Given the description of an element on the screen output the (x, y) to click on. 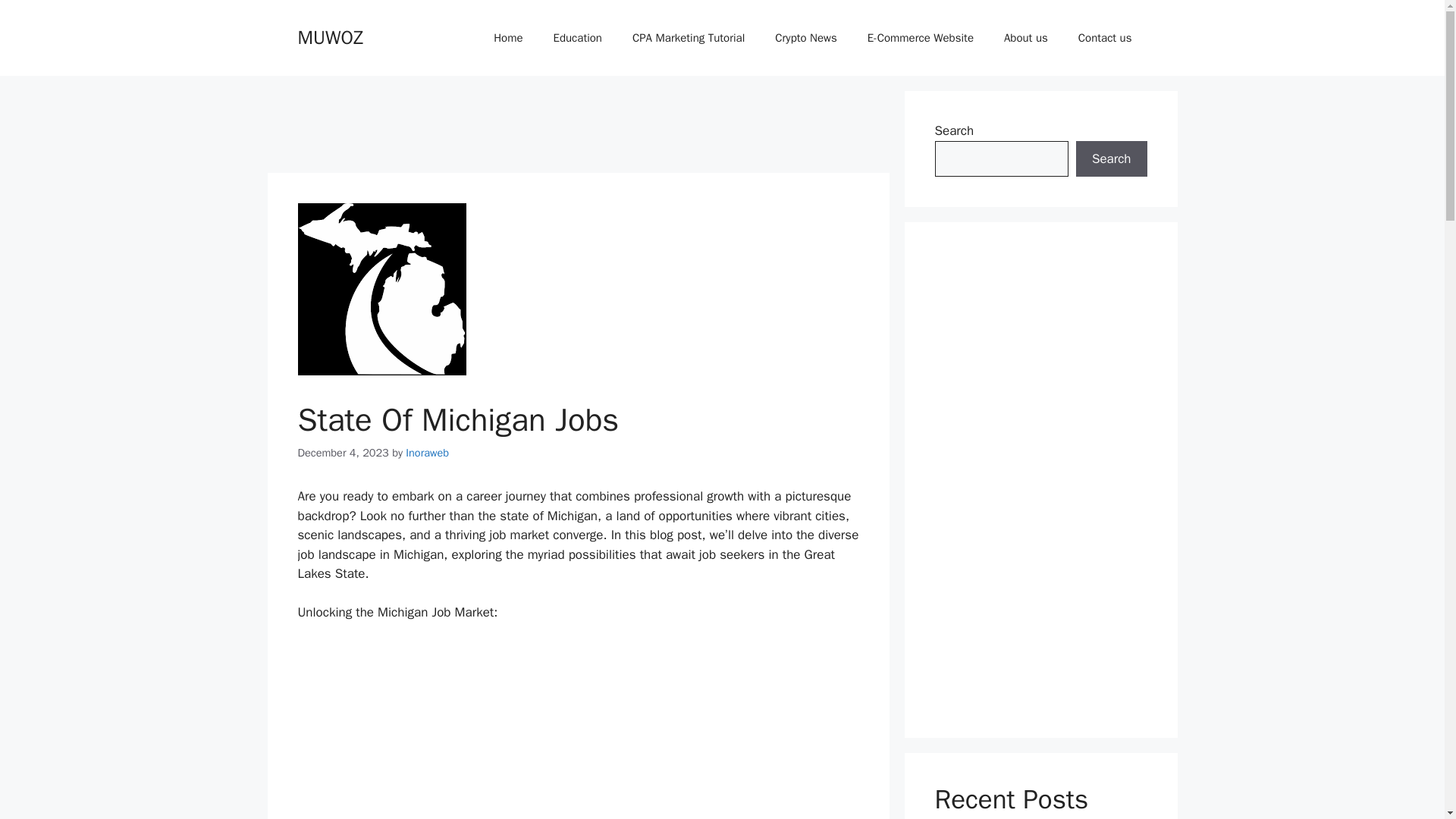
Search (1111, 158)
Contact us (1104, 37)
Home (508, 37)
E-Commerce Website (919, 37)
About us (1025, 37)
Crypto News (805, 37)
Education (577, 37)
MUWOZ (329, 37)
View all posts by Inoraweb (427, 452)
CPA Marketing Tutorial (688, 37)
Inoraweb (427, 452)
